Given the description of an element on the screen output the (x, y) to click on. 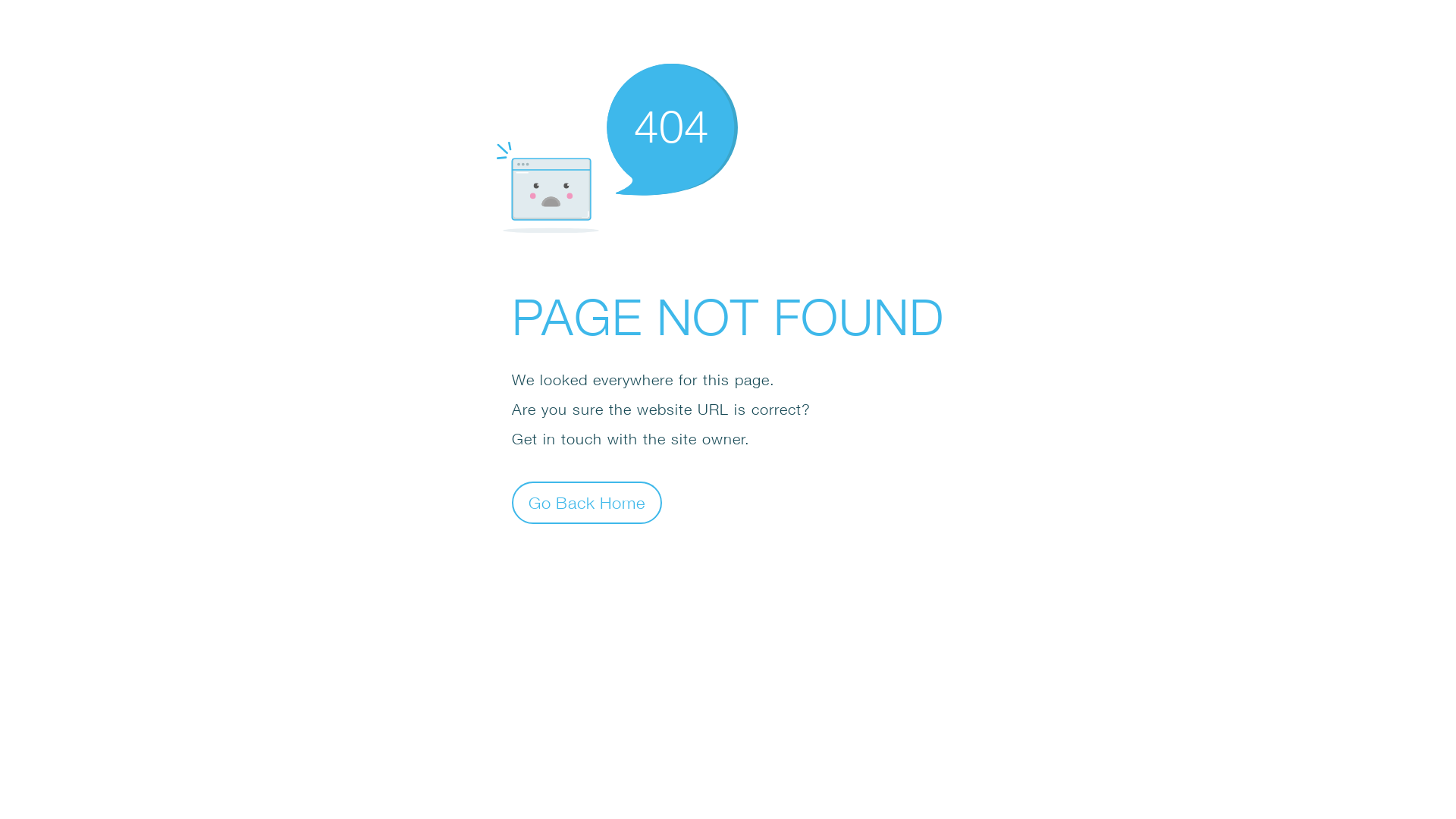
Go Back Home Element type: text (586, 502)
